Given the description of an element on the screen output the (x, y) to click on. 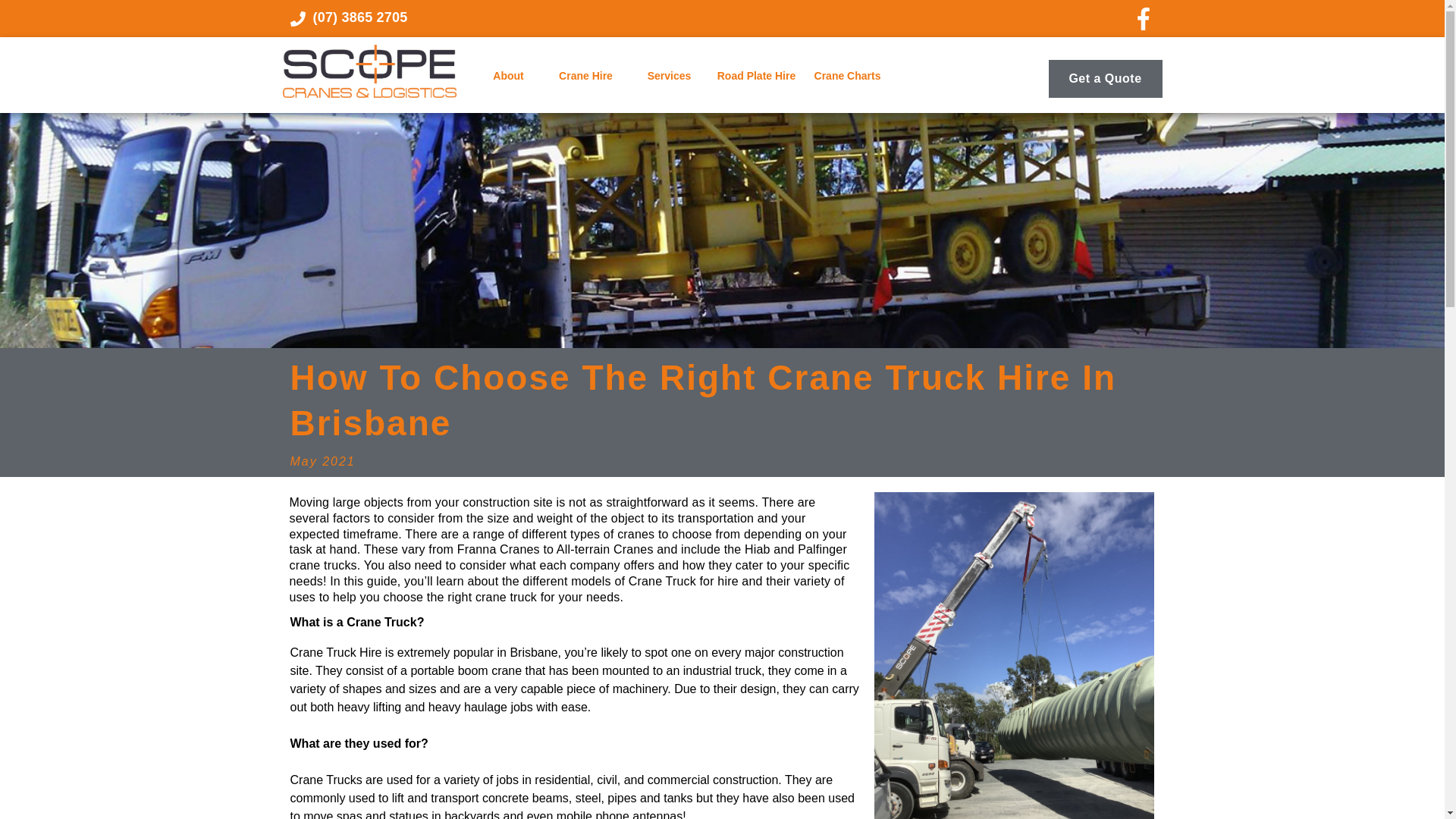
Get a Quote (1104, 78)
Crane Charts (846, 76)
Services (668, 76)
About  (509, 76)
Franna Cranes (498, 549)
residential (561, 779)
Crane Hire (585, 76)
types of cranes (611, 533)
civil (606, 779)
Road Plate Hire (755, 76)
All-terrain Cranes (604, 549)
commercial construction (712, 779)
